Given the description of an element on the screen output the (x, y) to click on. 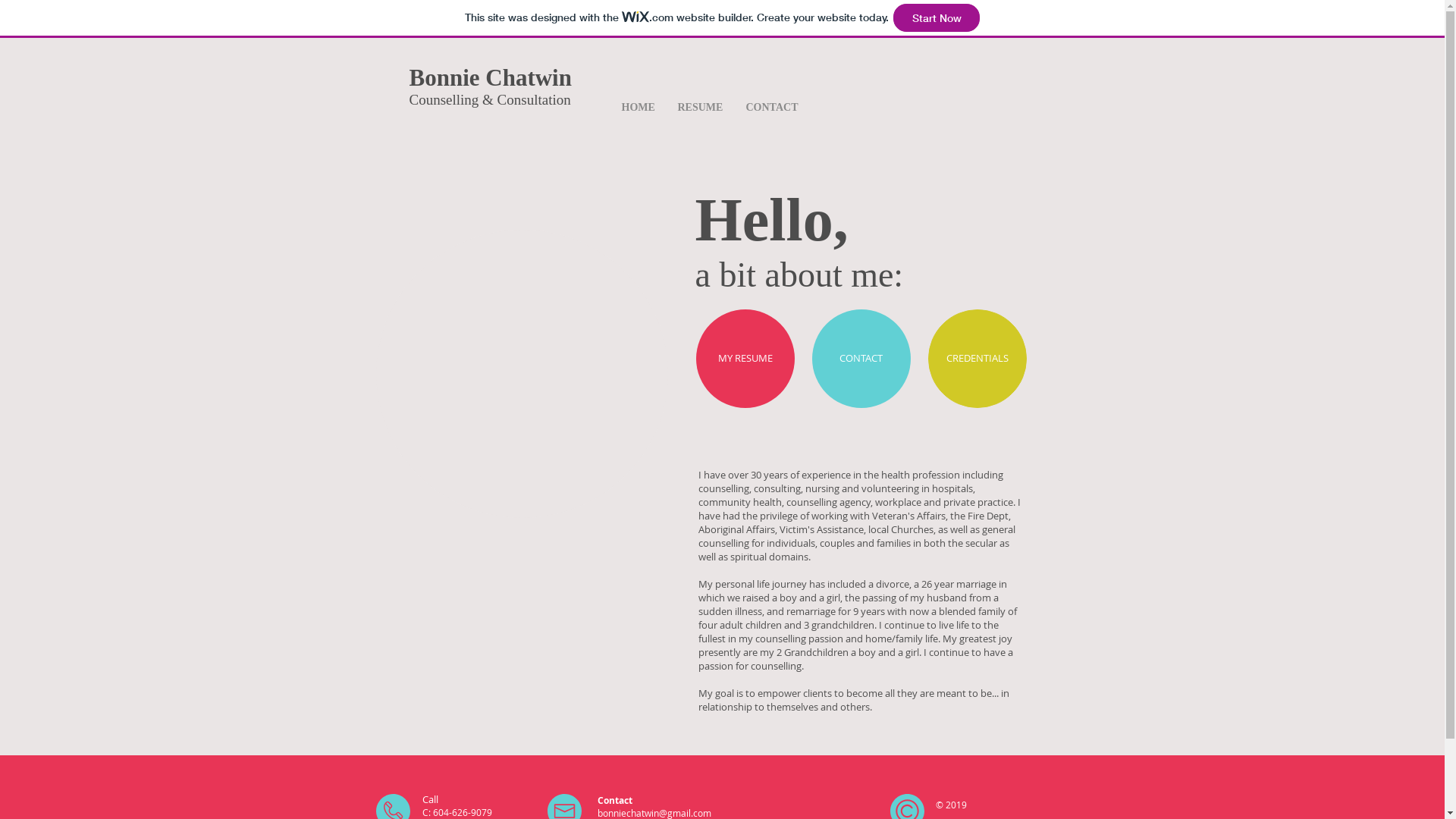
CONTACT Element type: text (771, 107)
HOME Element type: text (637, 107)
Bonnie Chatwin Element type: text (490, 77)
Counselling & Consultation Element type: text (490, 99)
CONTACT Element type: text (860, 358)
RESUME Element type: text (699, 107)
MY RESUME Element type: text (745, 358)
CREDENTIALS Element type: text (977, 358)
